Given the description of an element on the screen output the (x, y) to click on. 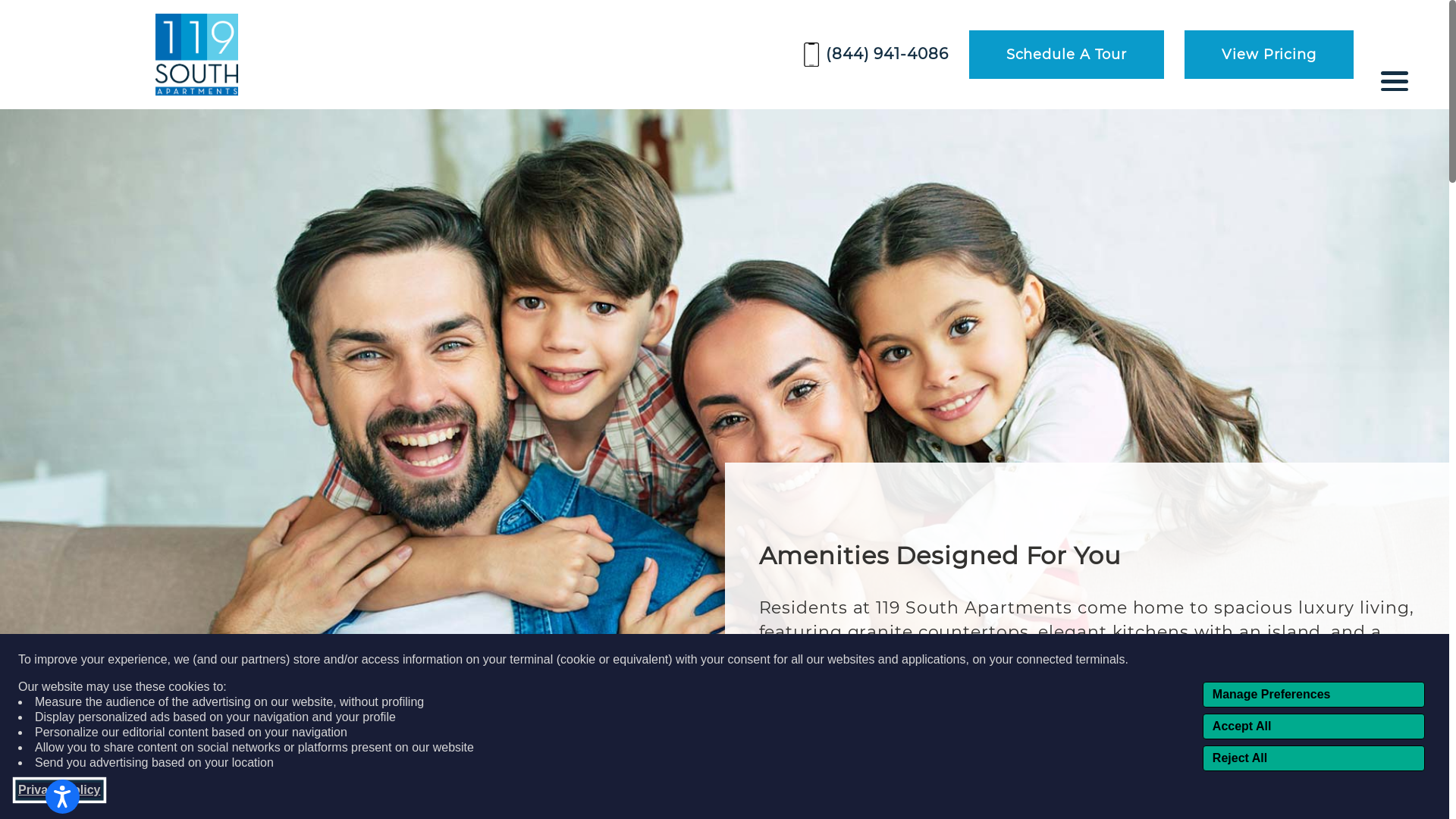
Privacy Policy Element type: text (59, 789)
View Pricing Element type: text (1258, 54)
Accept All Element type: text (1313, 726)
Schedule A Tour Element type: text (1066, 54)
Phone:
(844) 941-4086 Element type: text (875, 54)
Manage Preferences Element type: text (1313, 694)
View Pricing Element type: text (1268, 54)
Reject All Element type: text (1313, 758)
